Given the description of an element on the screen output the (x, y) to click on. 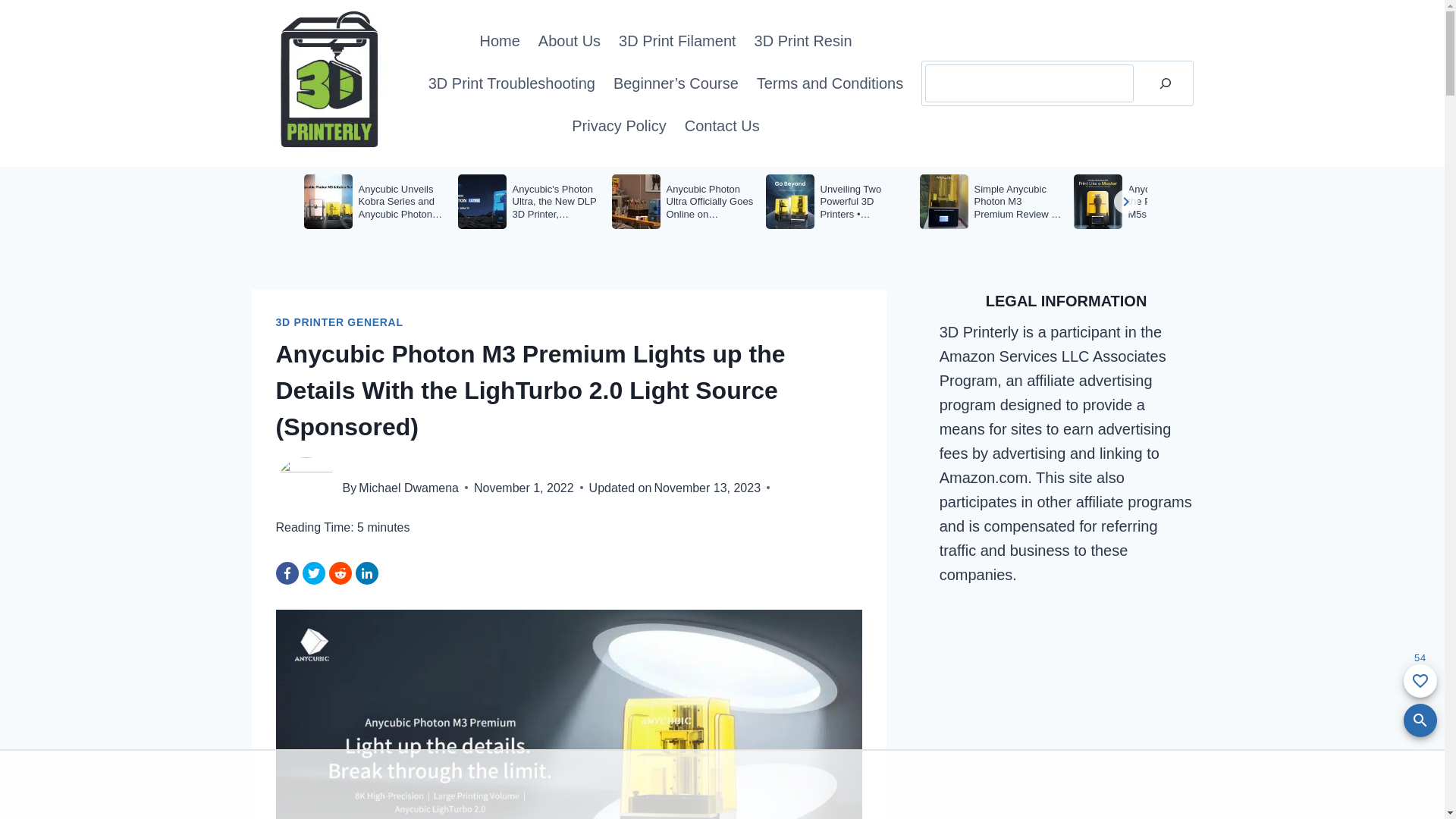
3rd party ad content Element type: hover (1066, 703)
Privacy Policy Element type: text (618, 125)
Home Element type: text (499, 40)
Contact Us Element type: text (721, 125)
About Us Element type: text (569, 40)
3D Print Filament Element type: text (677, 40)
3D PRINTER GENERAL Element type: text (339, 322)
3rd party ad content Element type: hover (721, 784)
3D Print Troubleshooting Element type: text (511, 83)
Michael Dwamena Element type: text (408, 487)
Terms and Conditions Element type: text (829, 83)
3D Print Resin Element type: text (803, 40)
